Given the description of an element on the screen output the (x, y) to click on. 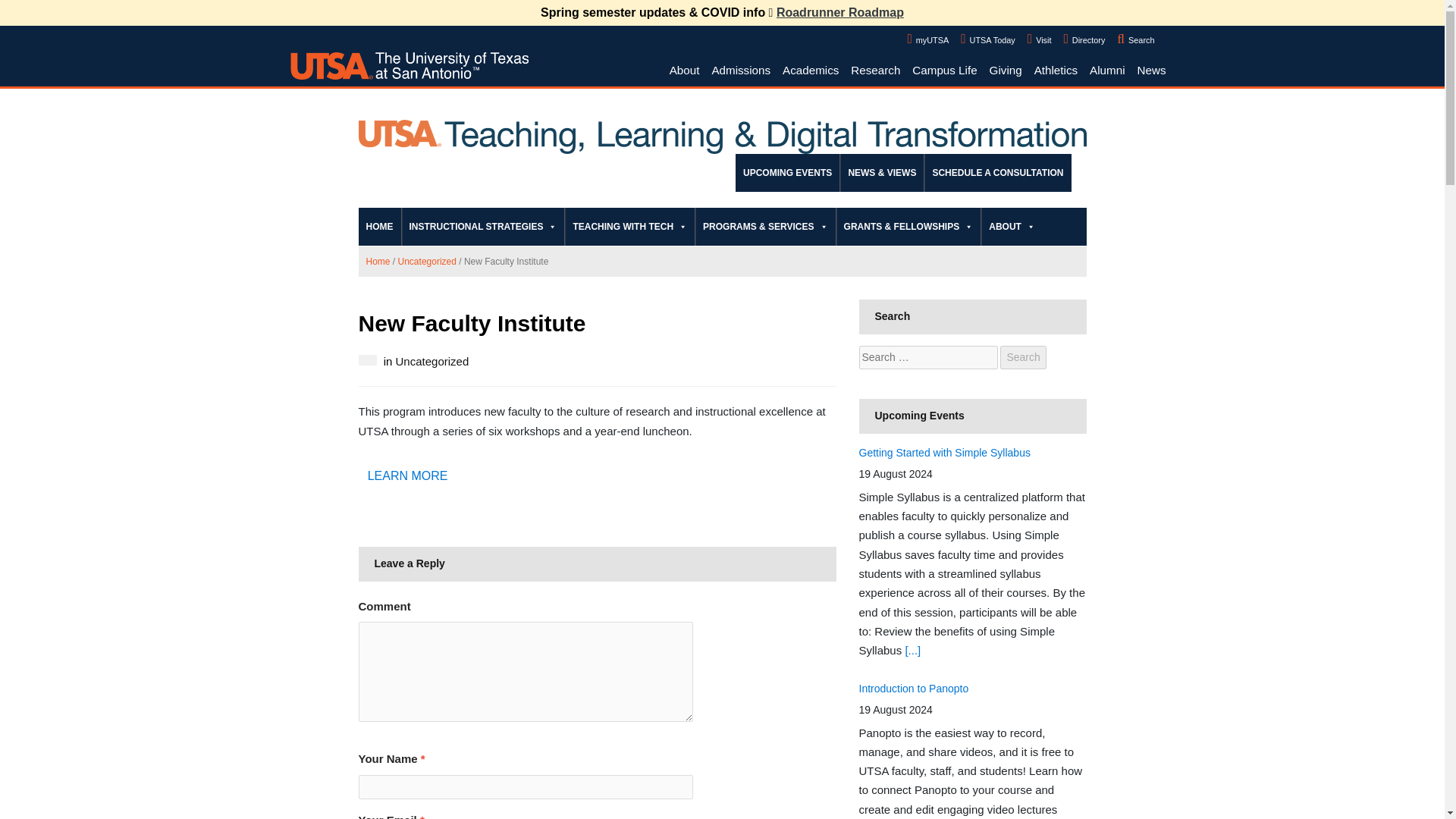
Alumni (1107, 70)
19 August 2024, 7:00 pm UTC (895, 709)
Academics (810, 70)
SCHEDULE A CONSULTATION (997, 172)
Search (1022, 357)
UTSA Today (987, 38)
Giving (1005, 70)
Directory (1083, 38)
Visit (1039, 38)
myUTSA (928, 38)
